Given the description of an element on the screen output the (x, y) to click on. 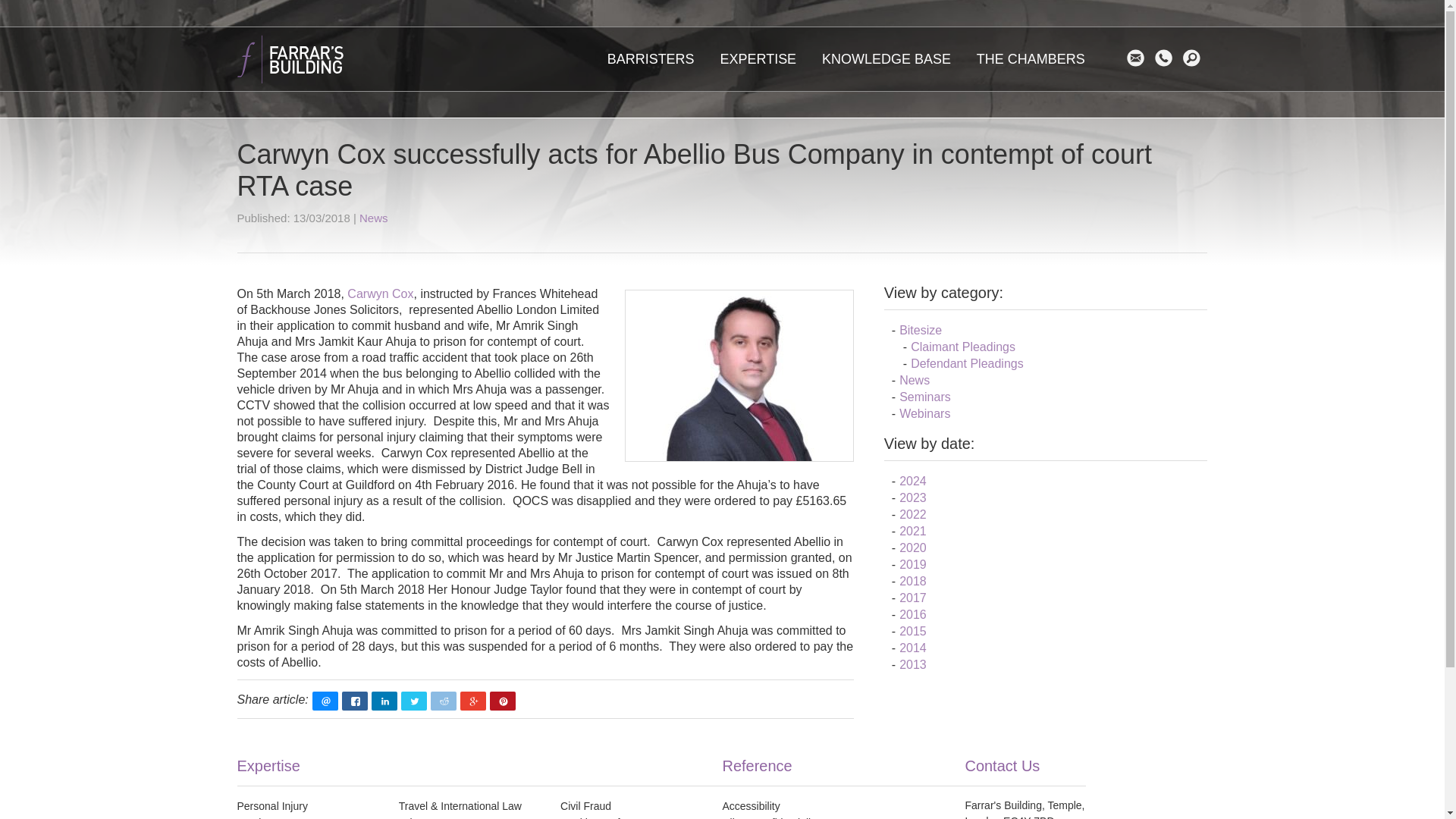
SEARCH (1195, 57)
KNOWLEDGE BASE (886, 58)
THE CHAMBERS (1030, 58)
CONTACT (1166, 57)
Email Us (1138, 57)
BARRISTERS (650, 58)
EXPERTISE (757, 58)
EMAIL (1138, 57)
Contact Us (1166, 57)
